Given the description of an element on the screen output the (x, y) to click on. 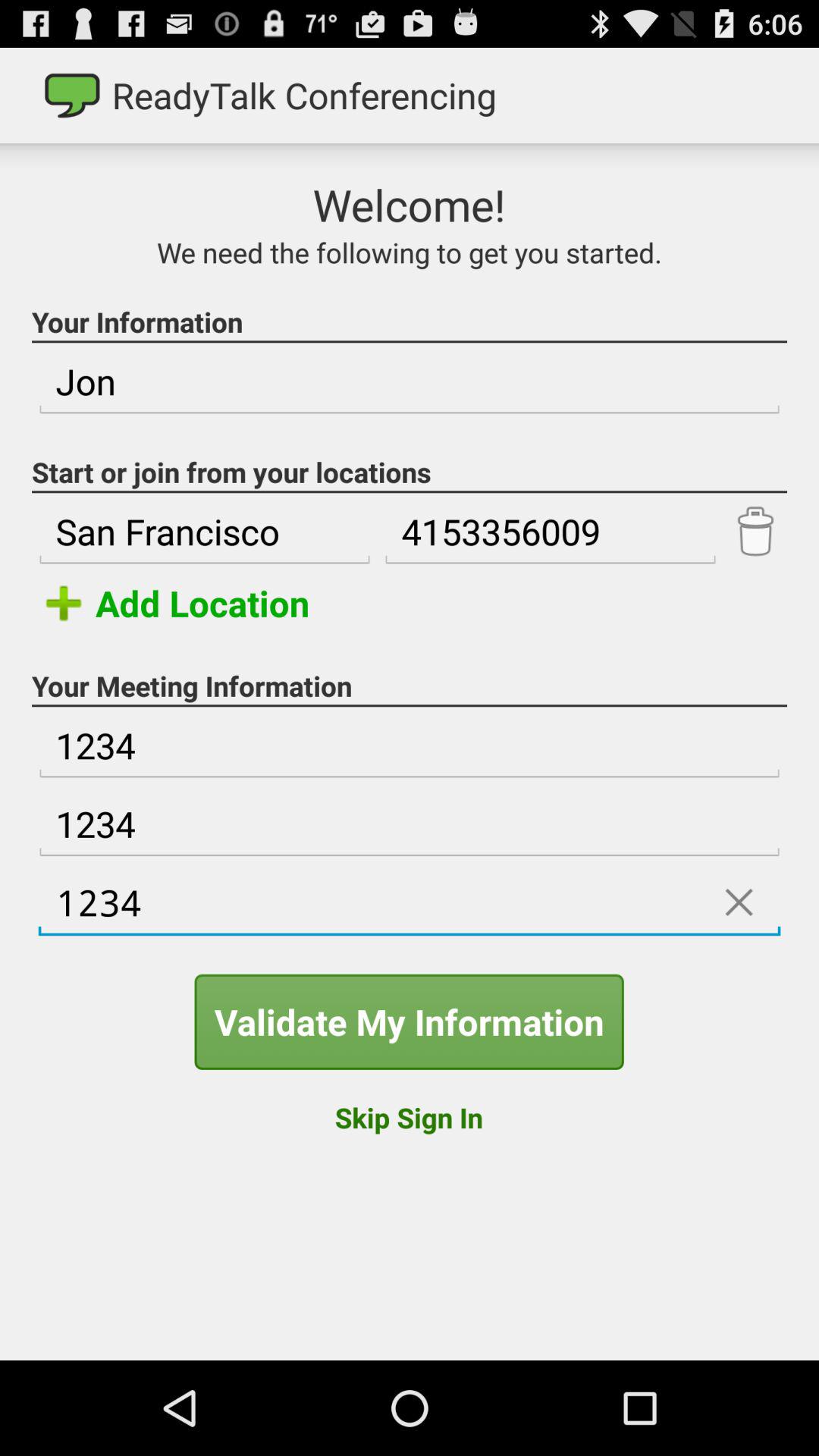
turn off jon icon (409, 381)
